Given the description of an element on the screen output the (x, y) to click on. 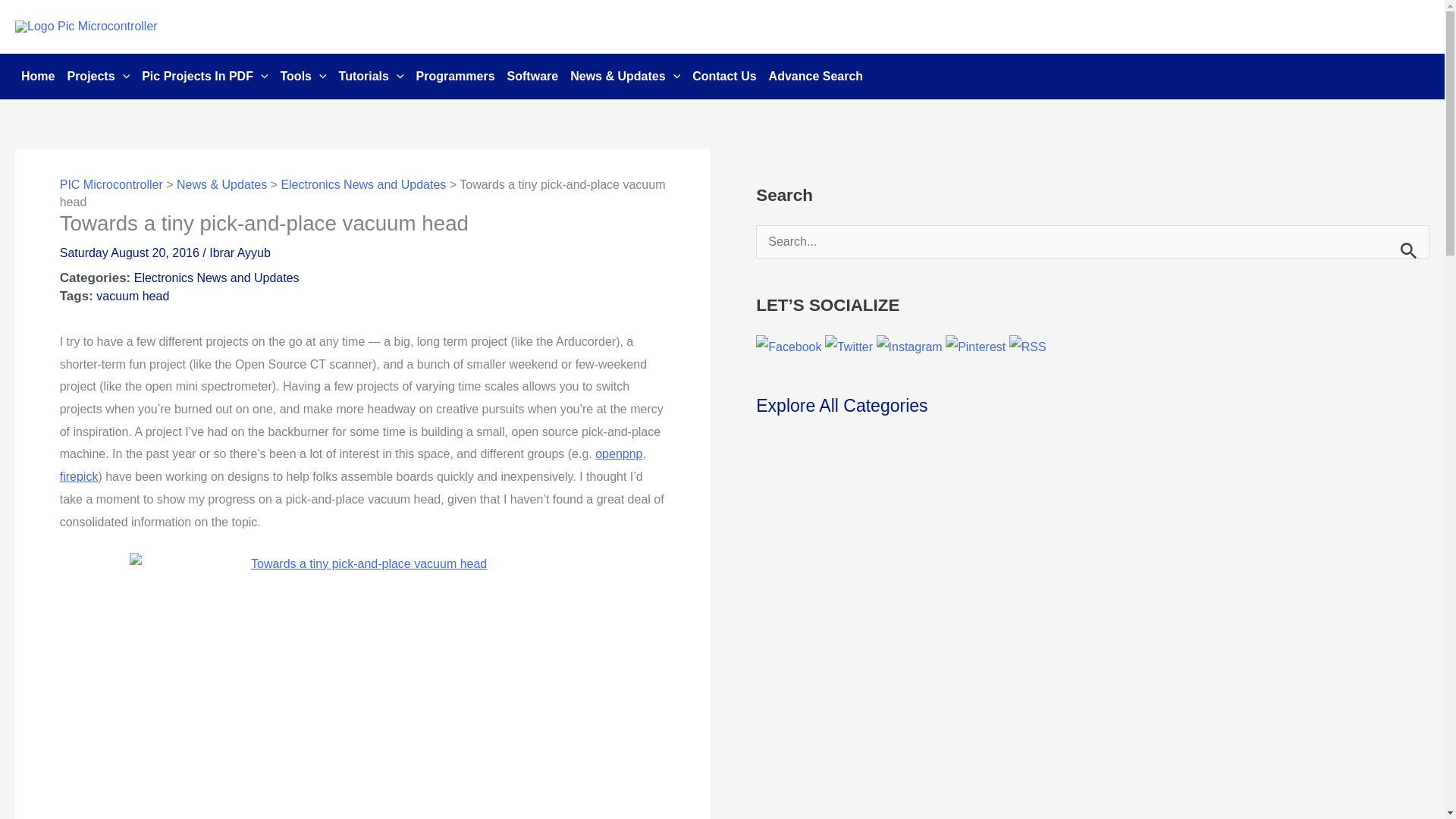
Search (1411, 246)
Click to view drop down menu (98, 76)
Tools (304, 76)
Programmers (455, 76)
Pic Projects In PDF (204, 76)
Search (1411, 246)
Software (532, 76)
Go to the Electronics News and Updates Category archives. (363, 184)
Go to PIC Microcontroller. (111, 184)
Home (37, 76)
Tutorials (371, 76)
Projects (98, 76)
